Given the description of an element on the screen output the (x, y) to click on. 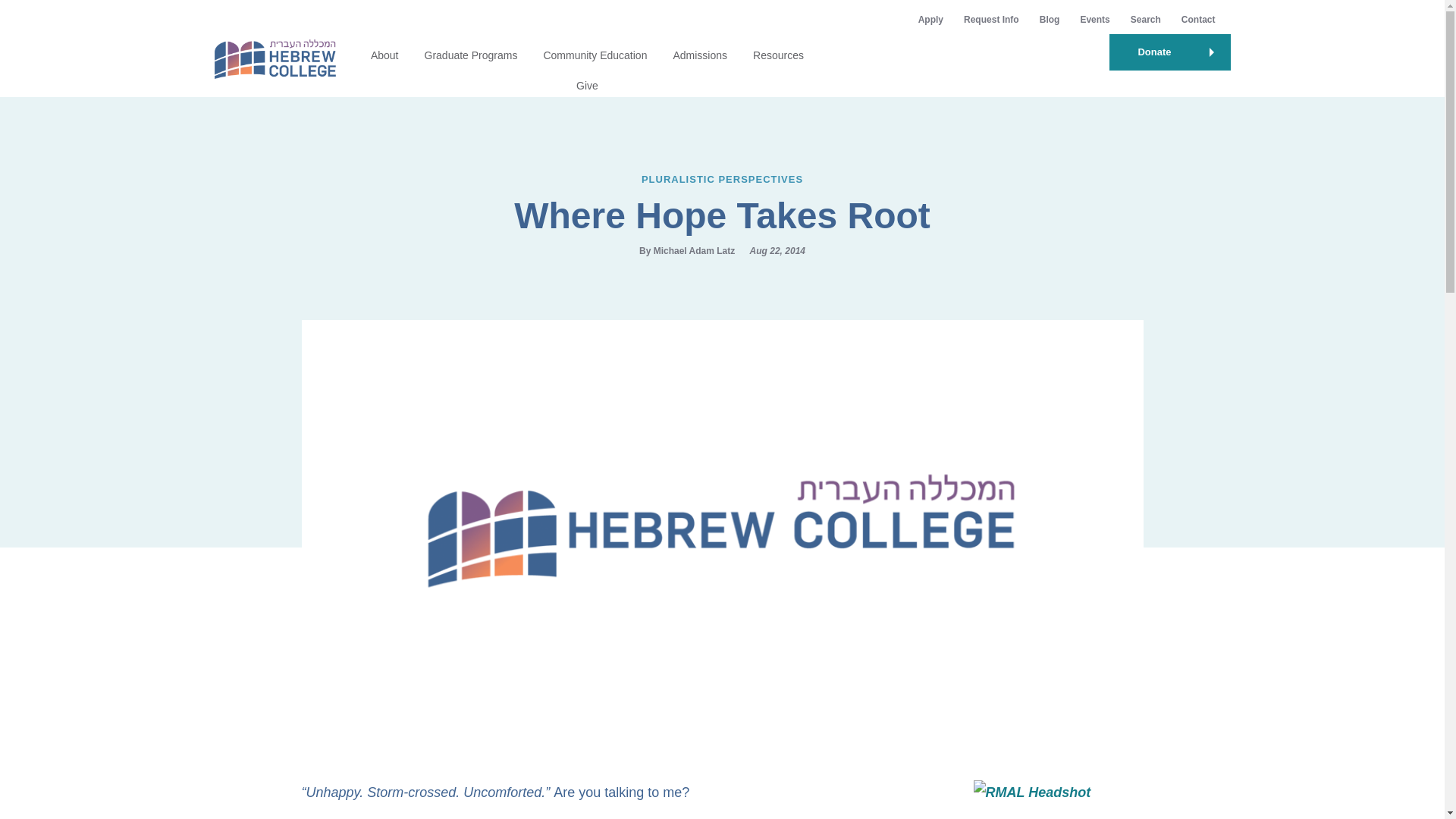
Donate (1169, 52)
About (385, 55)
Graduate Programs (471, 55)
Community Education (594, 55)
